Given the description of an element on the screen output the (x, y) to click on. 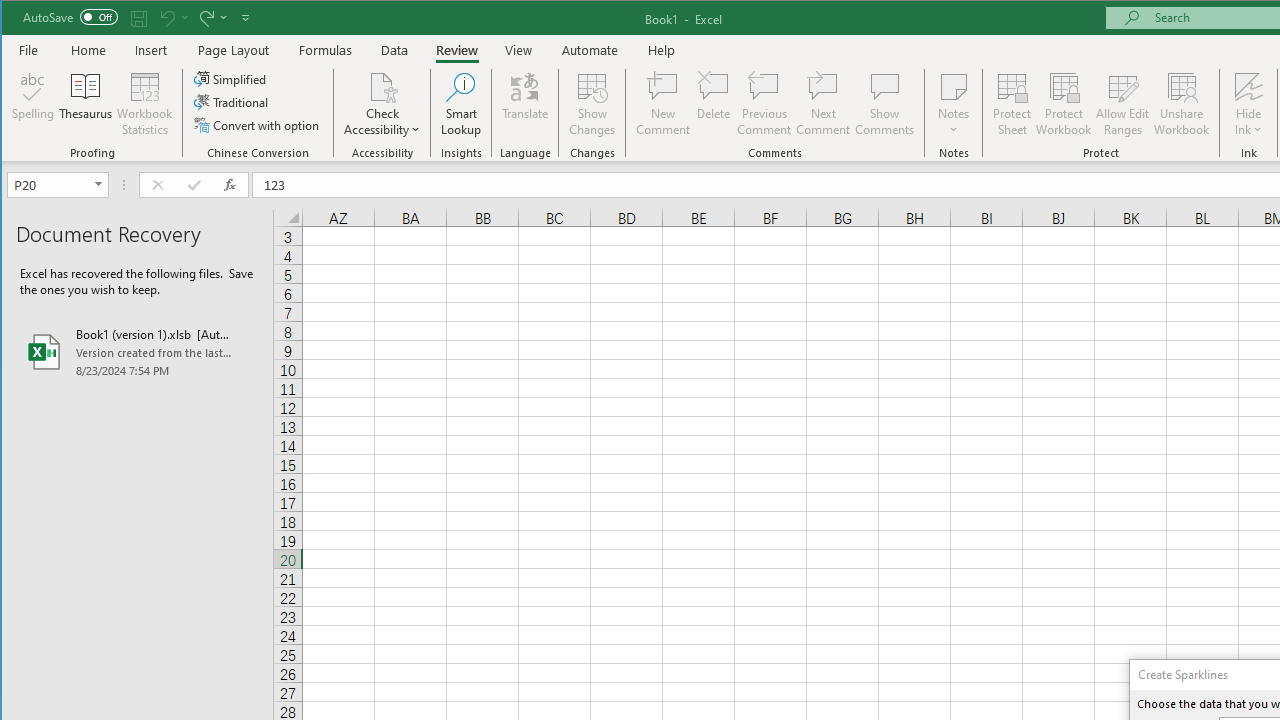
Simplified (231, 78)
Smart Lookup (461, 104)
Protect Workbook... (1064, 104)
